Given the description of an element on the screen output the (x, y) to click on. 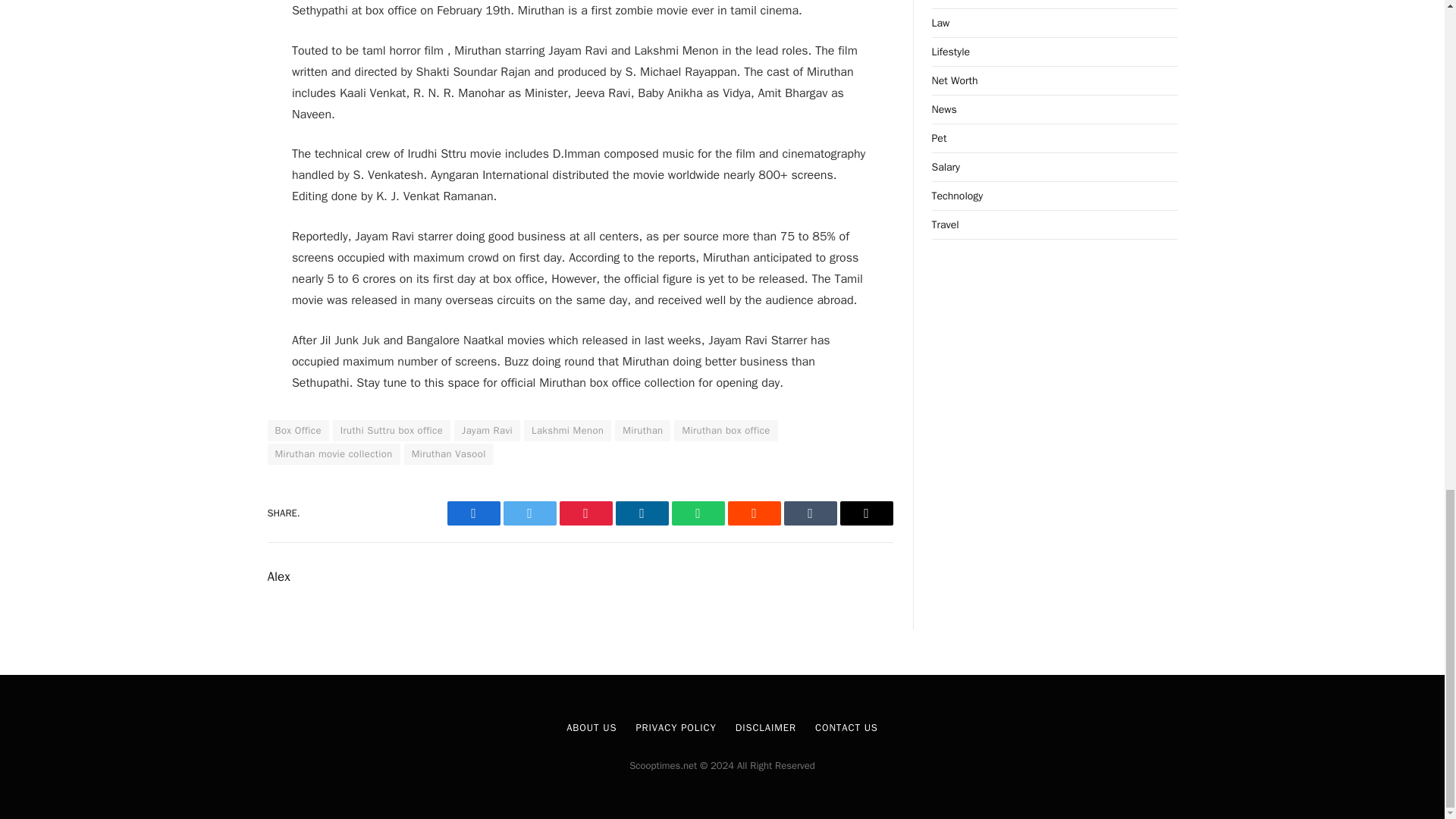
Share on WhatsApp (698, 513)
Jayam Ravi (486, 430)
WhatsApp (698, 513)
Miruthan box office (725, 430)
Miruthan (641, 430)
Miruthan Vasool (448, 454)
Share on Pinterest (585, 513)
Pinterest (585, 513)
Twitter (529, 513)
Share via Email (866, 513)
